Given the description of an element on the screen output the (x, y) to click on. 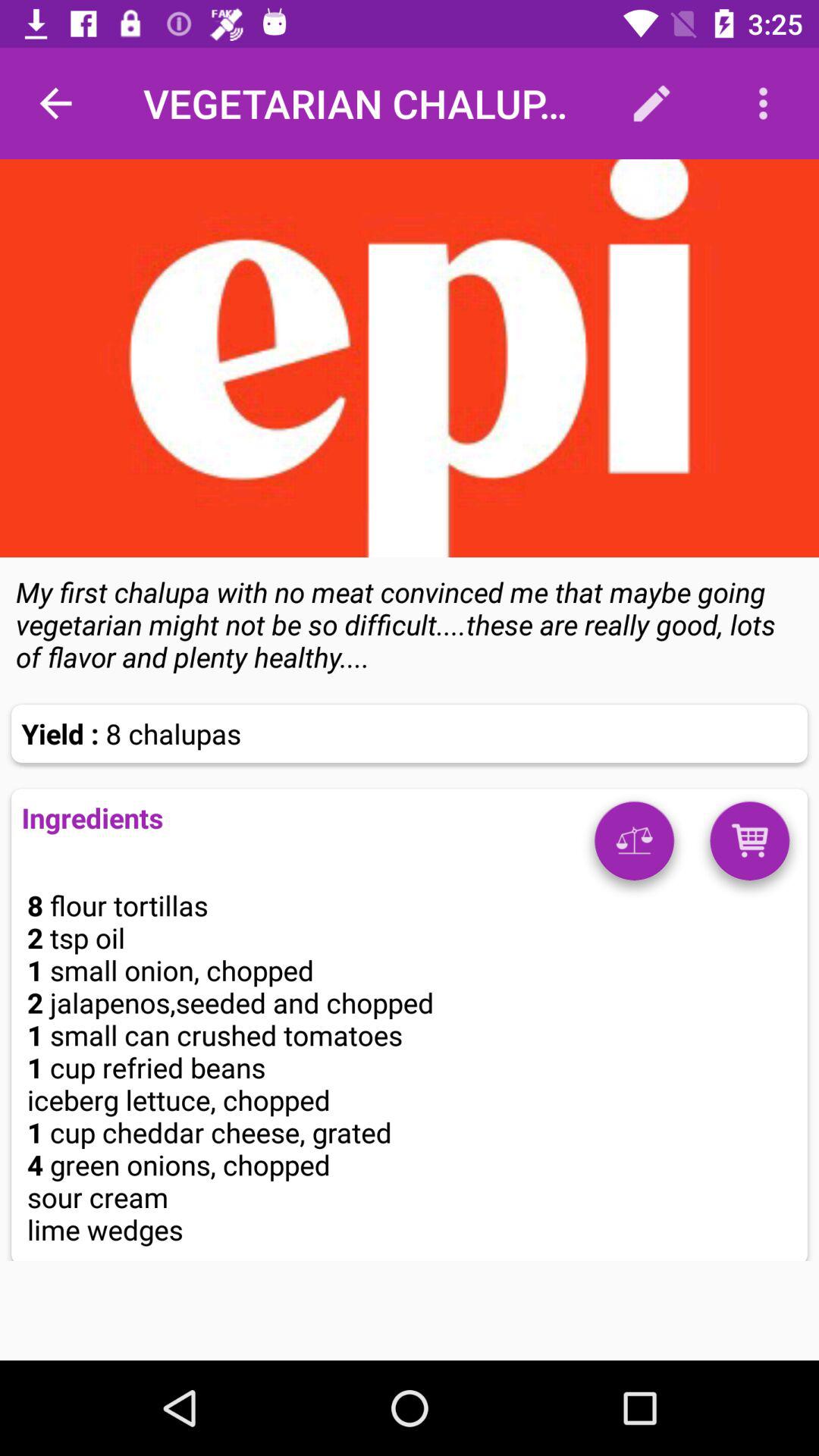
press icon to the right of vegetarian chalupas icon (651, 103)
